Given the description of an element on the screen output the (x, y) to click on. 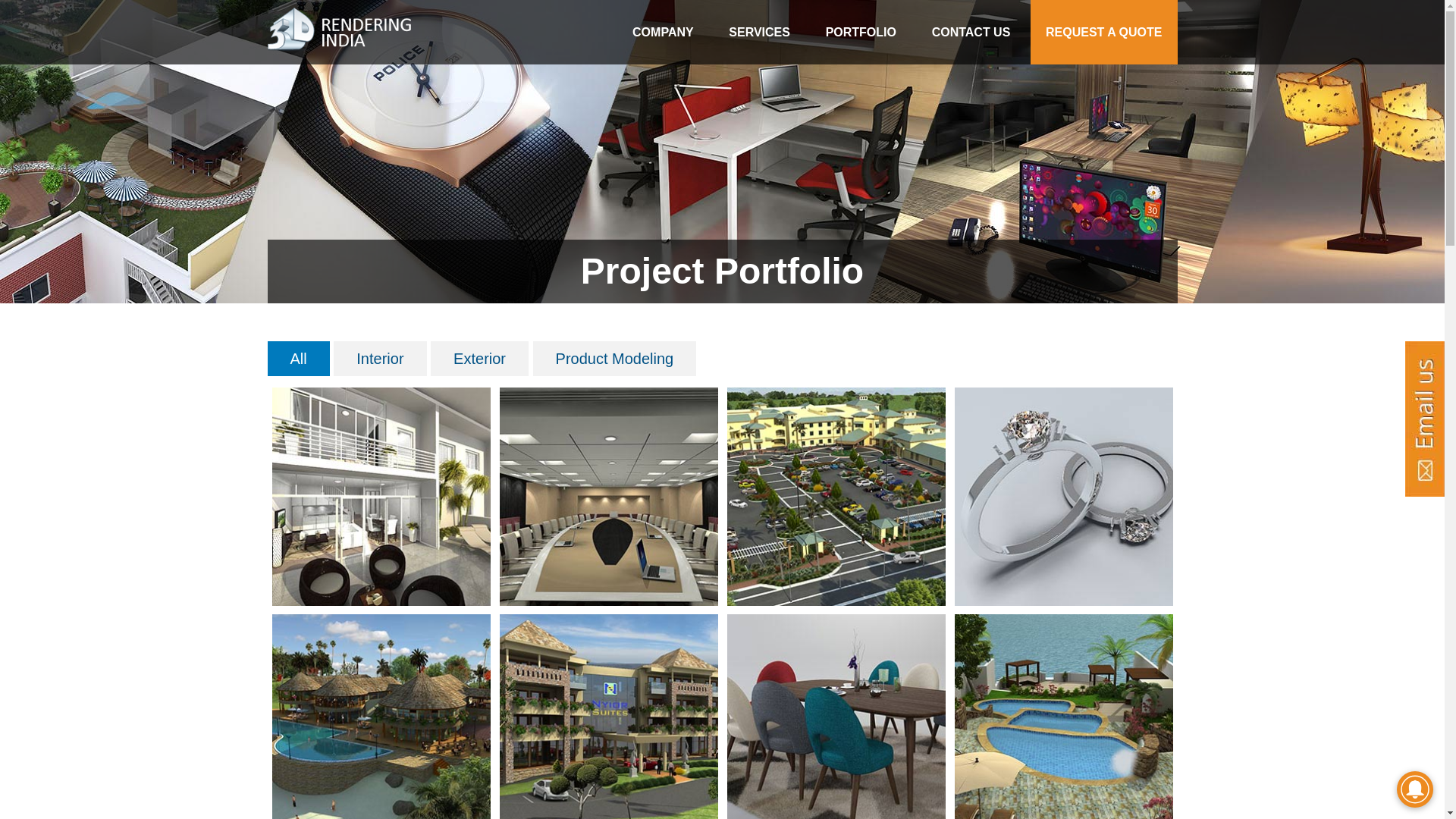
Exterior Element type: text (479, 358)
Interior Element type: text (379, 358)
SERVICES Element type: text (759, 32)
Product Modeling Element type: text (614, 358)
CONTACT US Element type: text (971, 32)
REQUEST A QUOTE Element type: text (1103, 32)
All Element type: text (297, 358)
COMPANY Element type: text (663, 32)
PORTFOLIO Element type: text (860, 32)
